Given the description of an element on the screen output the (x, y) to click on. 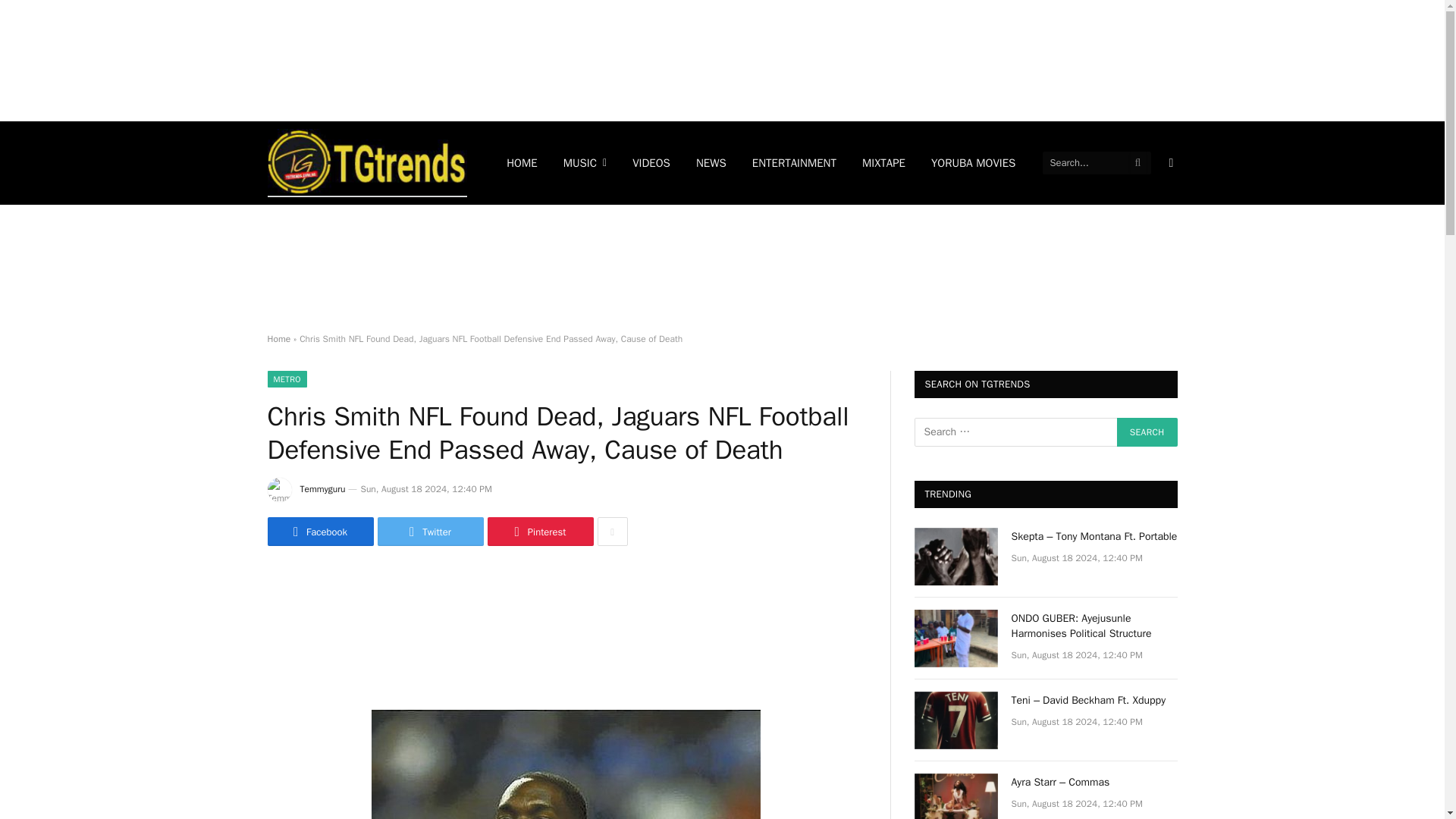
YORUBA MOVIES (973, 162)
Search (1146, 431)
Temmyguru (322, 489)
Switch to Dark Design - easier on eyes. (1169, 162)
Search (1146, 431)
Pinterest (539, 531)
Share on Facebook (319, 531)
Home (277, 338)
Twitter (430, 531)
Posts by Temmyguru (322, 489)
